Given the description of an element on the screen output the (x, y) to click on. 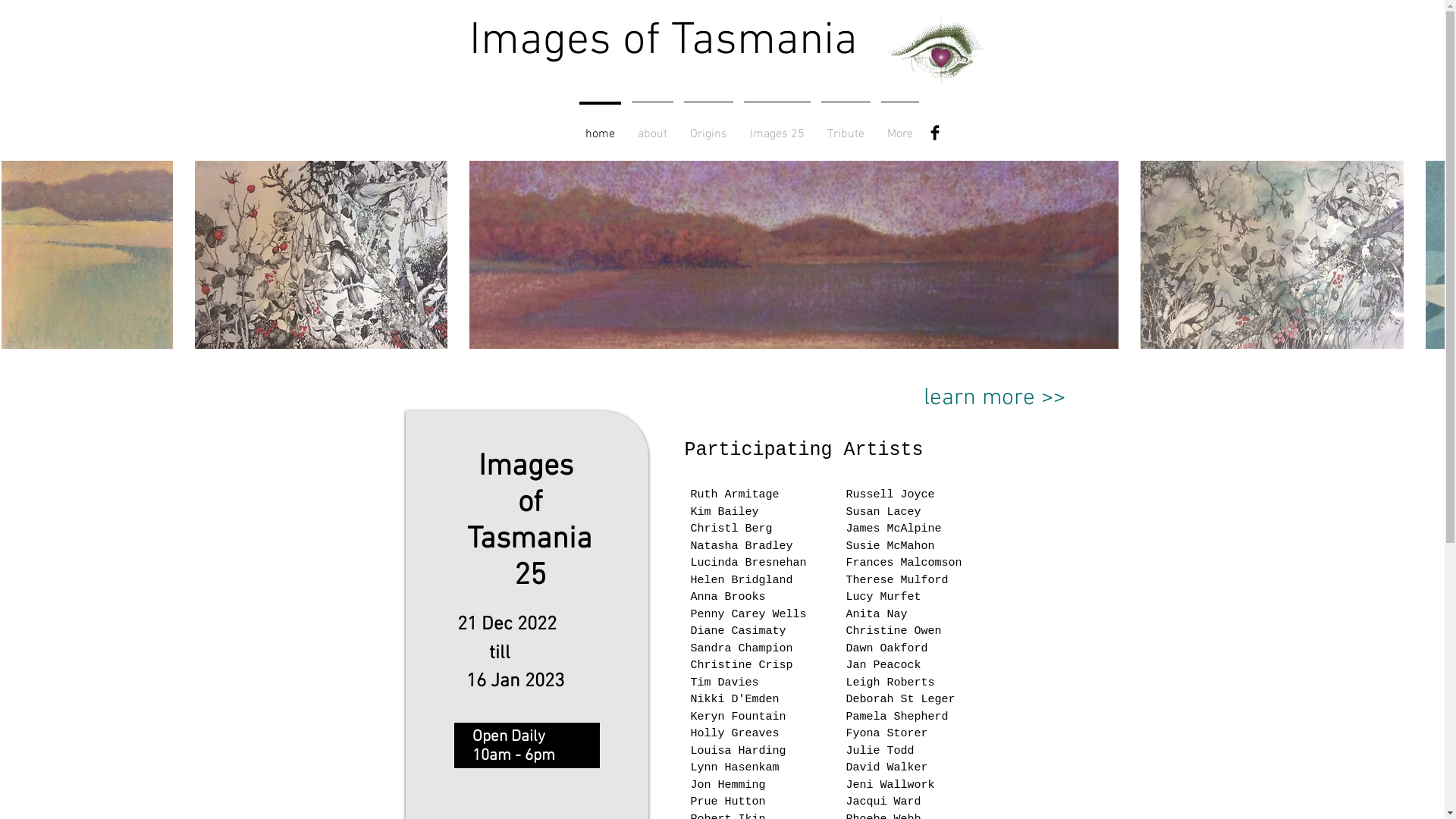
Tribute Element type: text (845, 127)
about Element type: text (652, 127)
Origins Element type: text (707, 127)
home Element type: text (599, 127)
Images 25 Element type: text (776, 127)
IOT-logo.jpg Element type: hover (938, 50)
learn more >> Element type: text (993, 398)
